Given the description of an element on the screen output the (x, y) to click on. 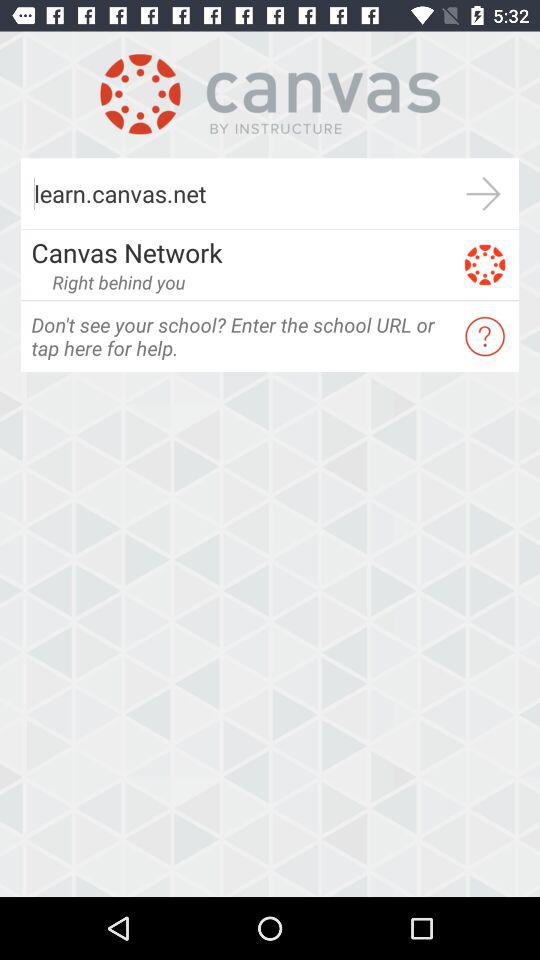
choose app below right behind you app (240, 336)
